Given the description of an element on the screen output the (x, y) to click on. 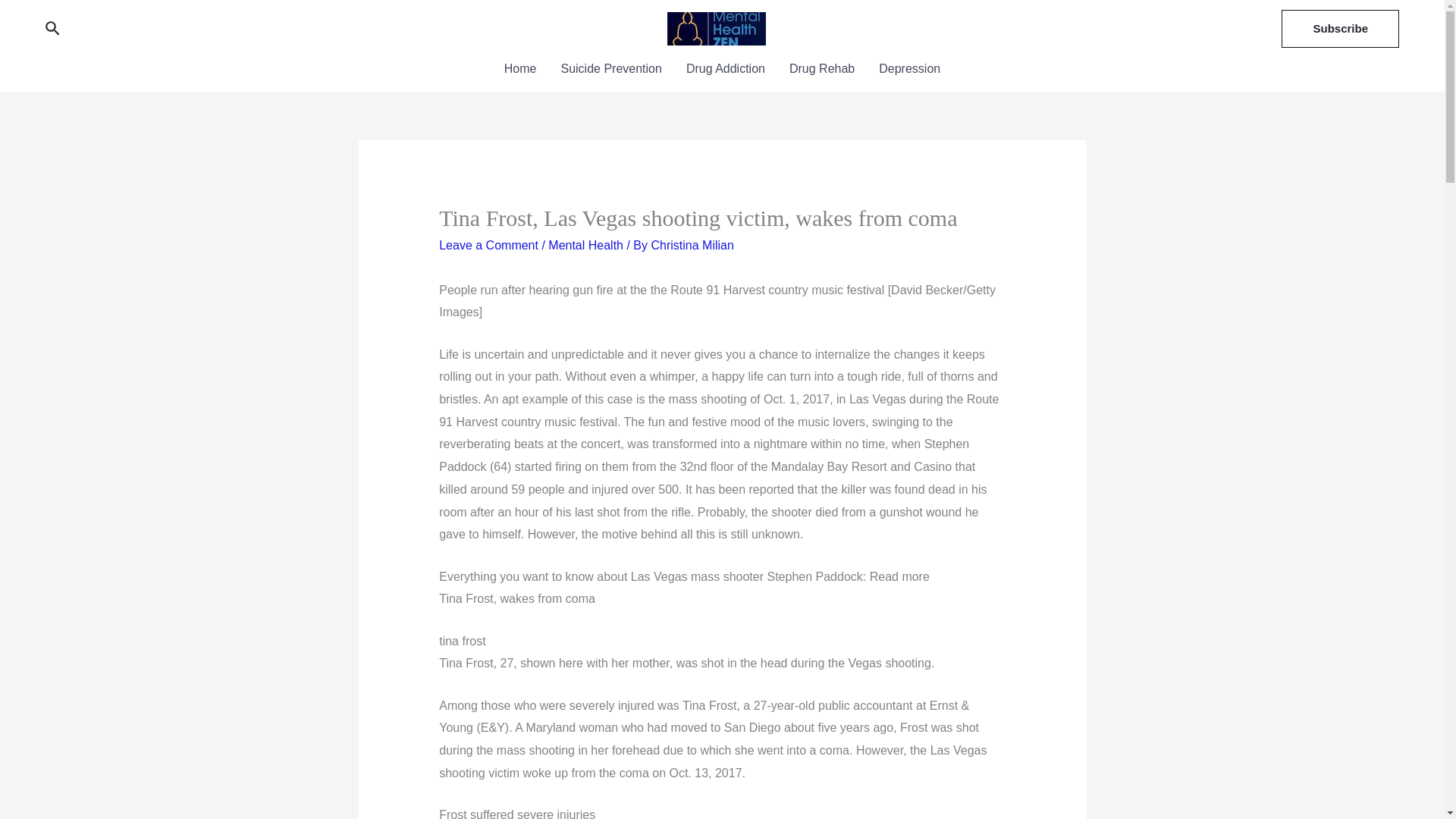
Subscribe (1340, 28)
View all posts by Christina Milian (691, 245)
Drug Rehab (821, 68)
Christina Milian (691, 245)
Home (520, 68)
Suicide Prevention (610, 68)
Drug Addiction (725, 68)
Depression (909, 68)
Mental Health (585, 245)
Leave a Comment (488, 245)
